Given the description of an element on the screen output the (x, y) to click on. 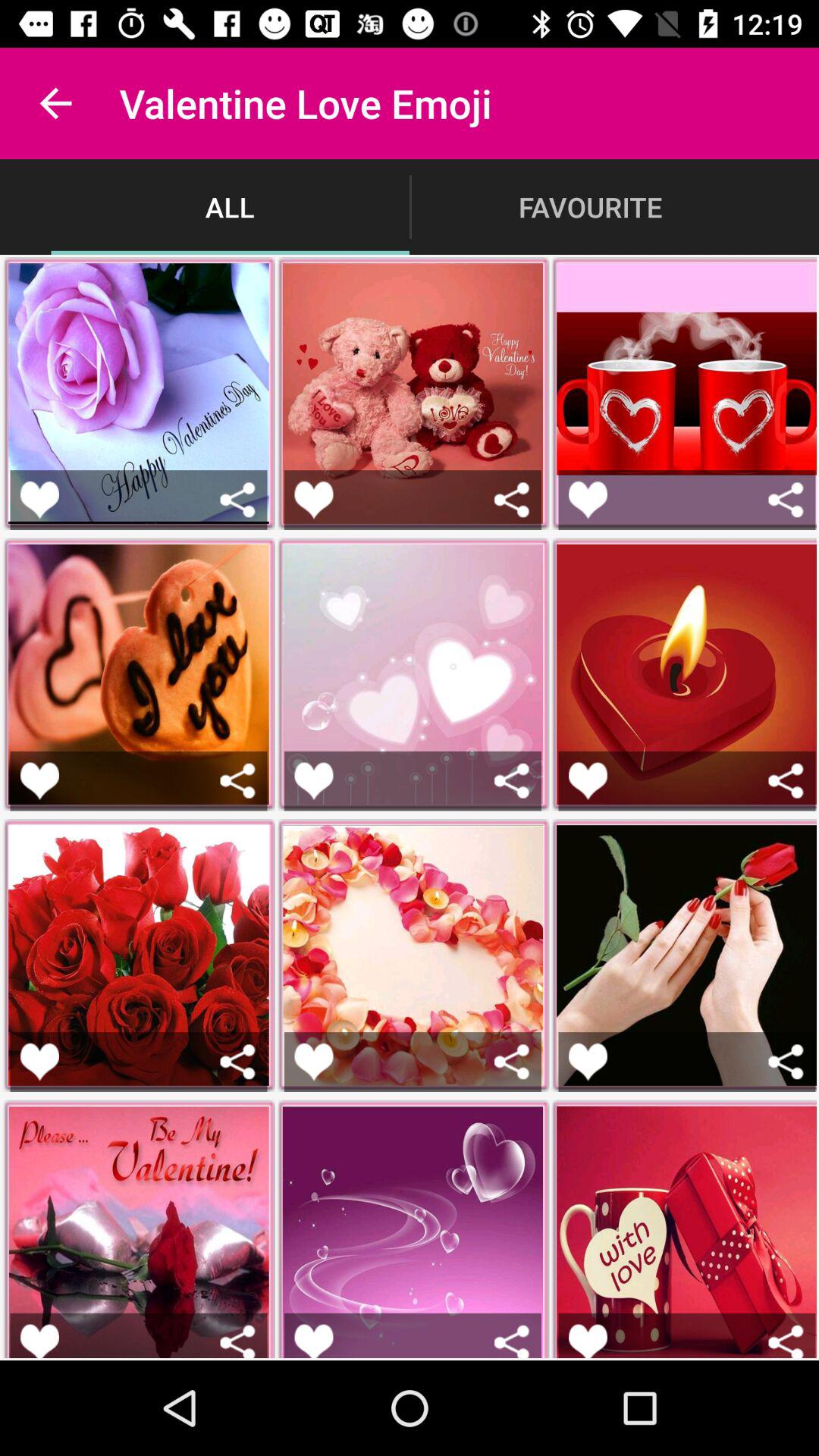
favorite (313, 1340)
